Given the description of an element on the screen output the (x, y) to click on. 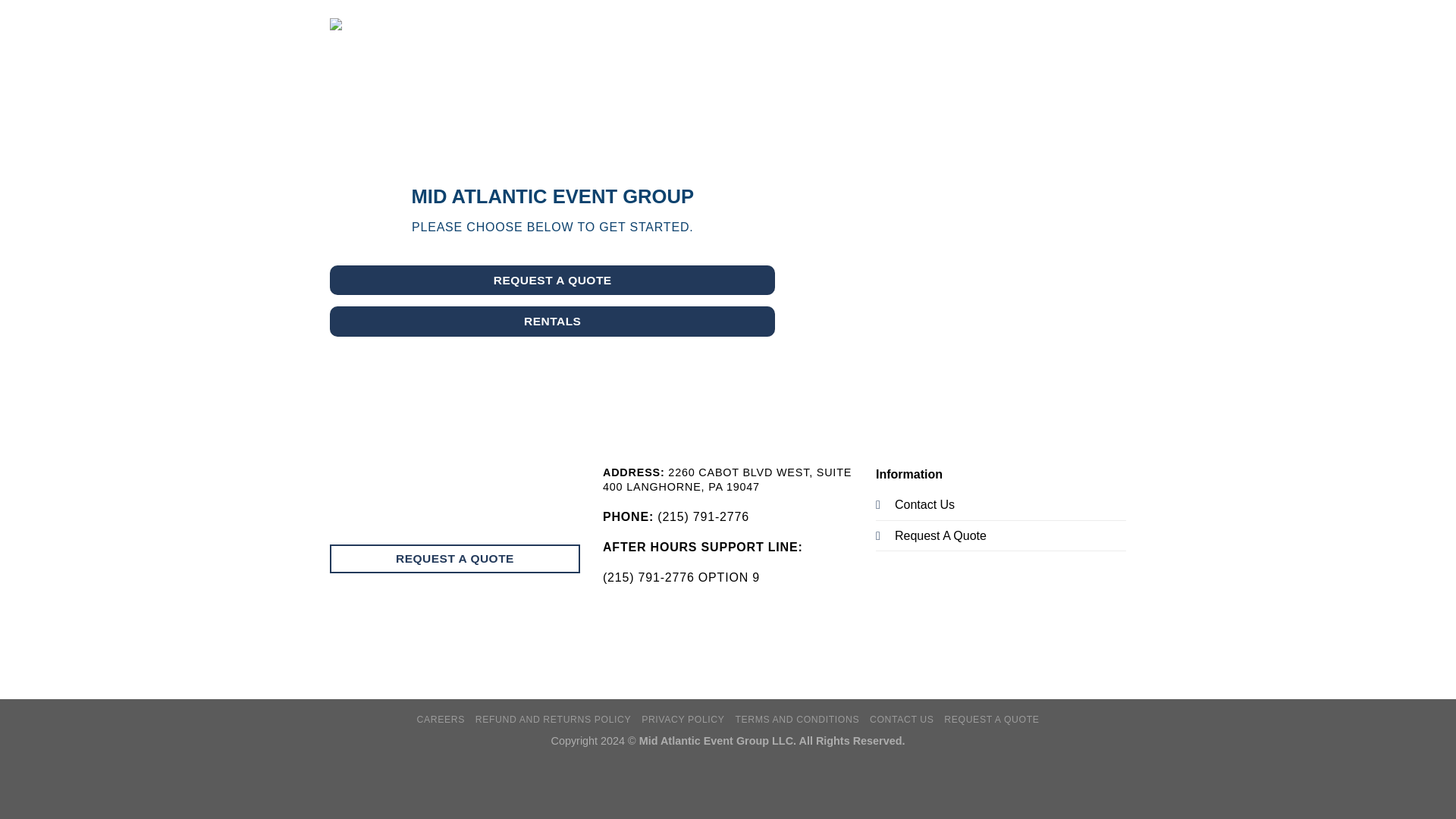
CONTACT US (885, 37)
REFUND AND RETURNS POLICY (553, 719)
PRODUCTION SERVICES (588, 37)
TERMS AND CONDITIONS (797, 719)
REQUEST A QUOTE (454, 559)
REQUEST A QUOTE (787, 37)
RENTALS (552, 320)
Request A Quote (941, 535)
CONTACT US (901, 719)
REQUEST A QUOTE (991, 719)
